Given the description of an element on the screen output the (x, y) to click on. 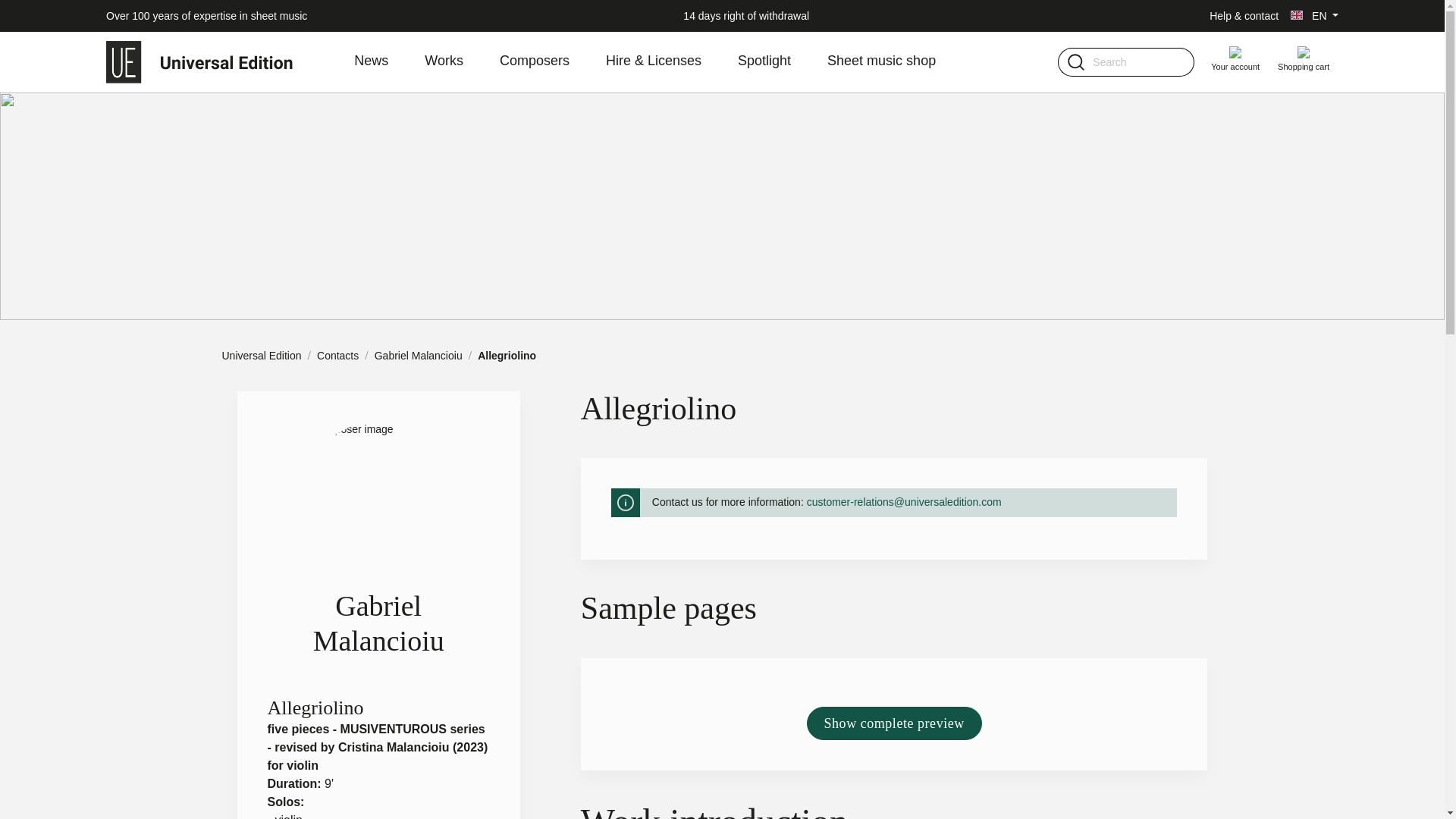
Works (462, 62)
Composers (552, 62)
Spotlight (782, 62)
Spotlight (782, 62)
Go to homepage (200, 61)
Sheet music shop (899, 62)
Composers (552, 62)
Sheet music shop (899, 62)
News (389, 62)
News (389, 62)
EN (1314, 15)
Works (462, 62)
